Given the description of an element on the screen output the (x, y) to click on. 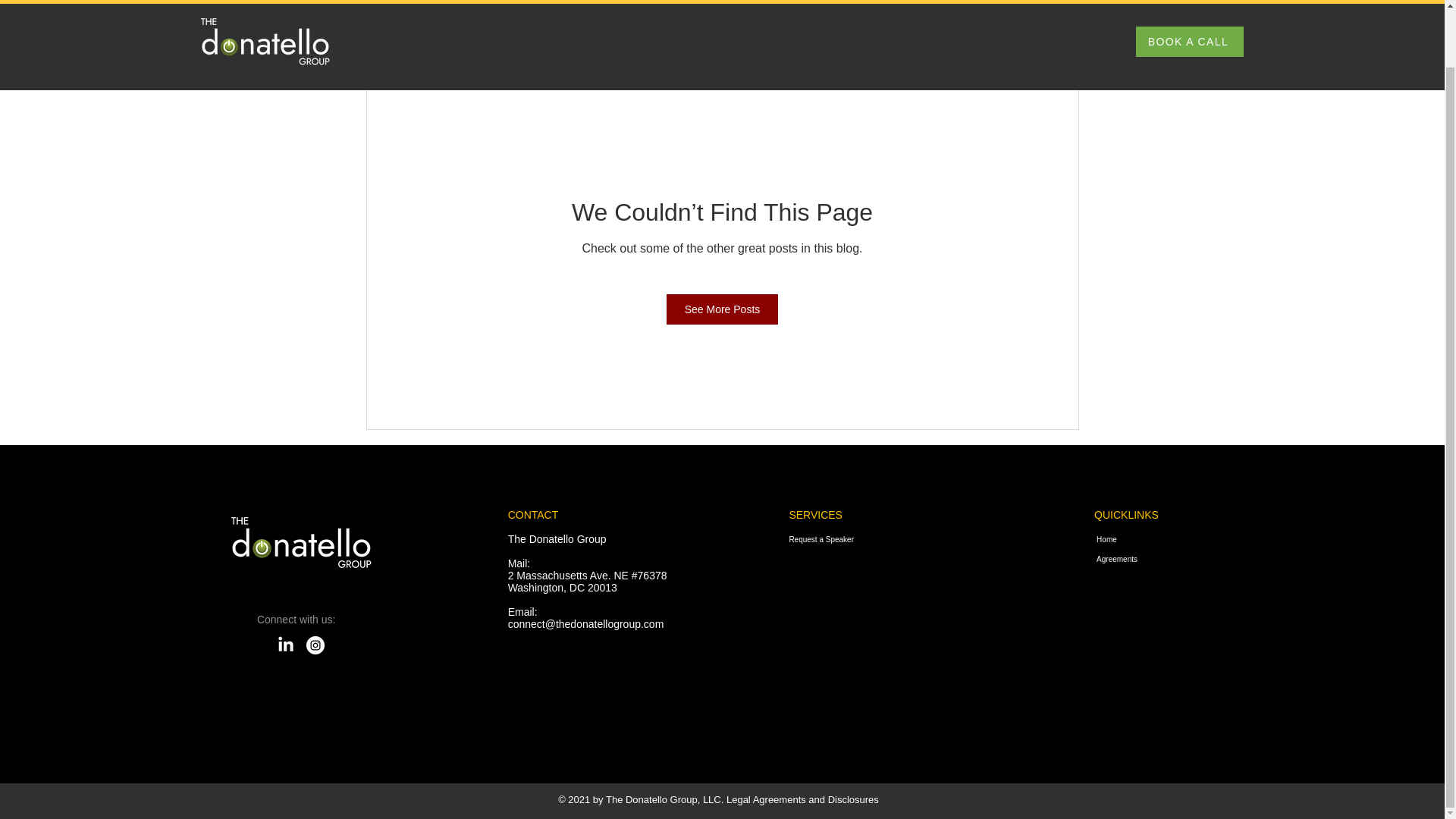
Request a Speaker (835, 539)
All Categories (397, 58)
Personal Development (779, 58)
Management (571, 58)
Home (1200, 539)
See More Posts (722, 309)
Project Teams (664, 58)
Agreements (1200, 559)
Legal Agreements and Disclosures (802, 799)
Leadership (485, 58)
